Given the description of an element on the screen output the (x, y) to click on. 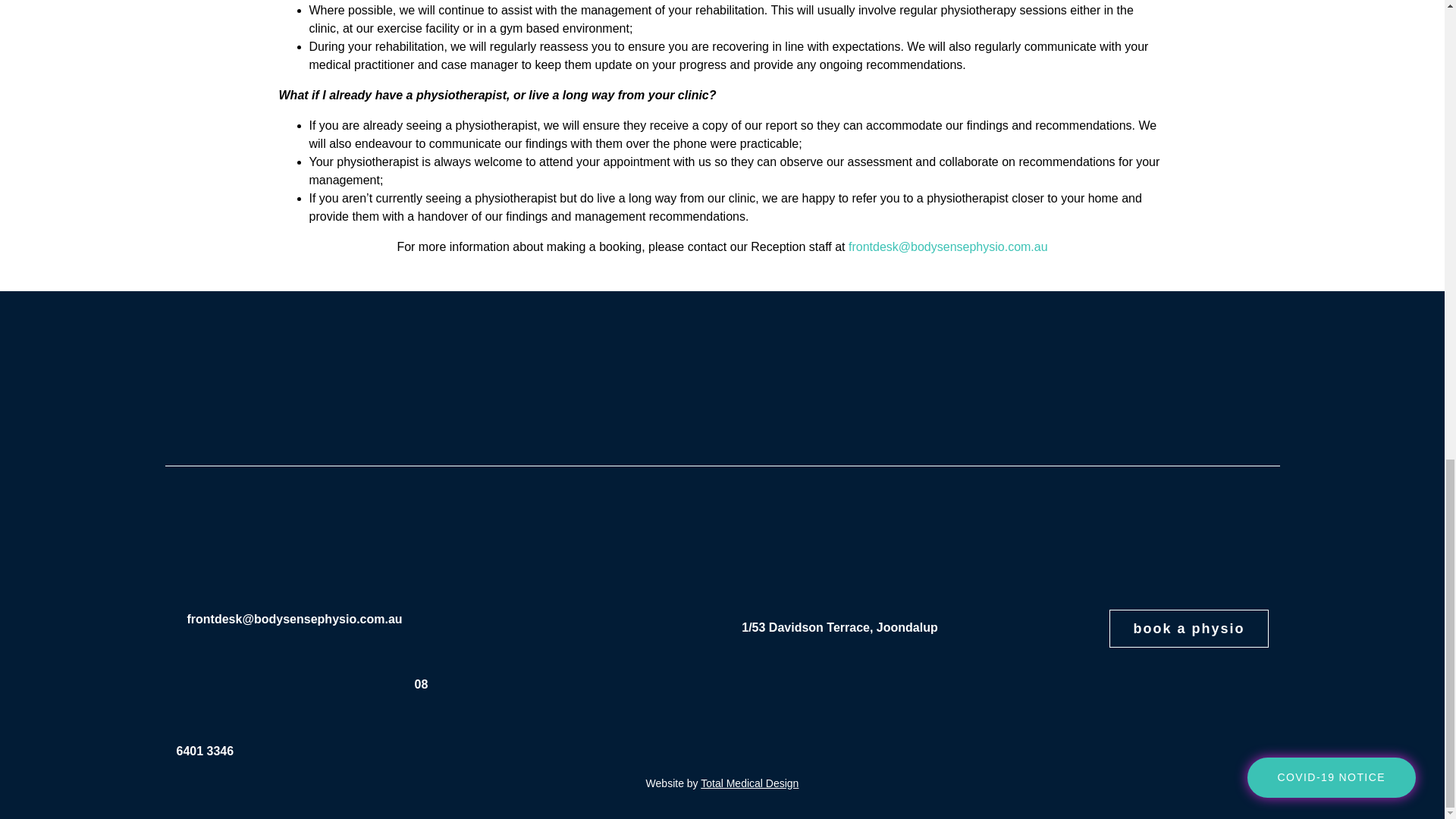
Total Medical Design (748, 783)
08 6401 3346 (302, 717)
book a physio (1188, 628)
